Given the description of an element on the screen output the (x, y) to click on. 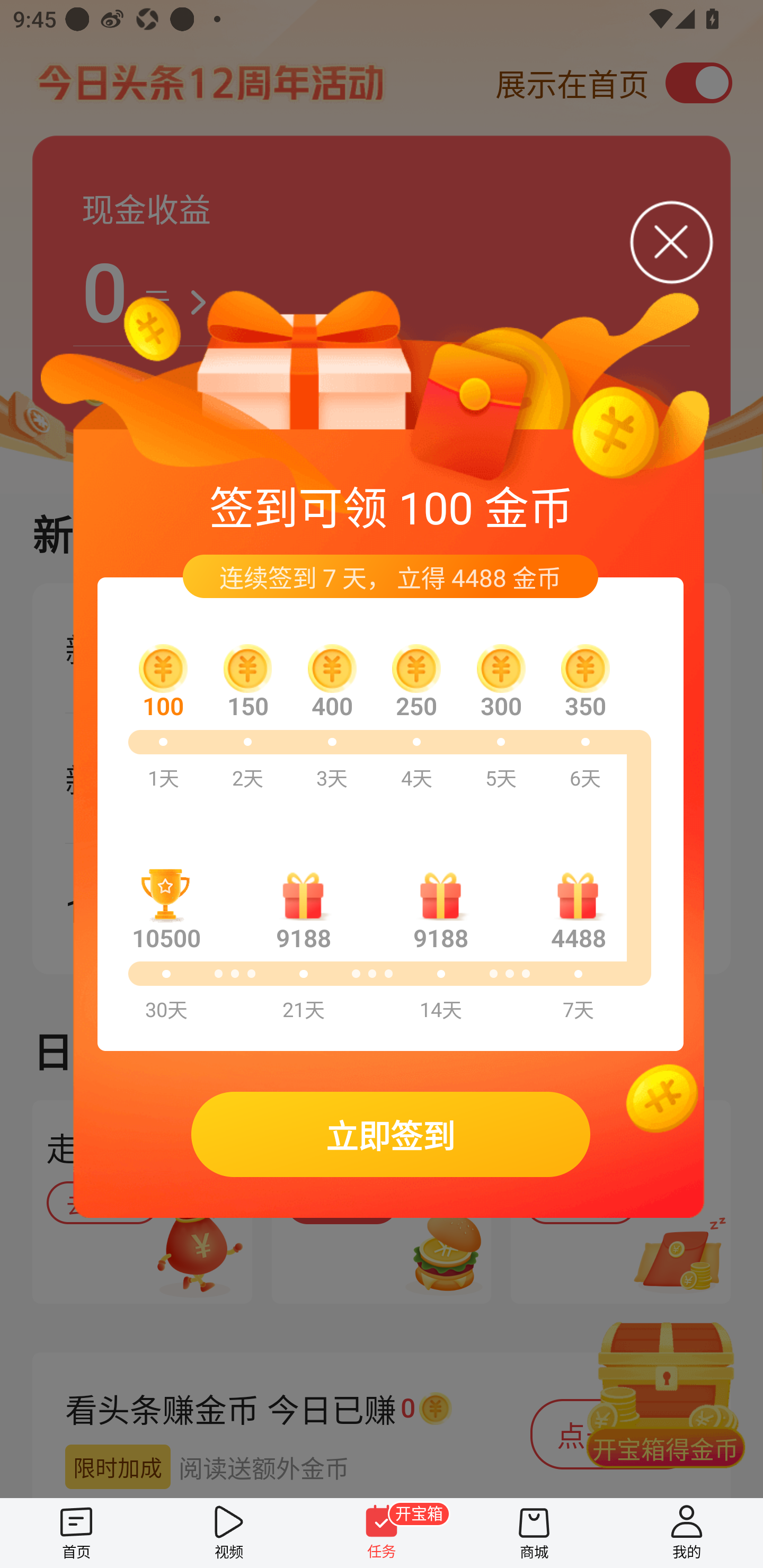
首页 (76, 1532)
视频 (228, 1532)
任务 开宝箱 (381, 1532)
商城 (533, 1532)
我的 (686, 1532)
